Given the description of an element on the screen output the (x, y) to click on. 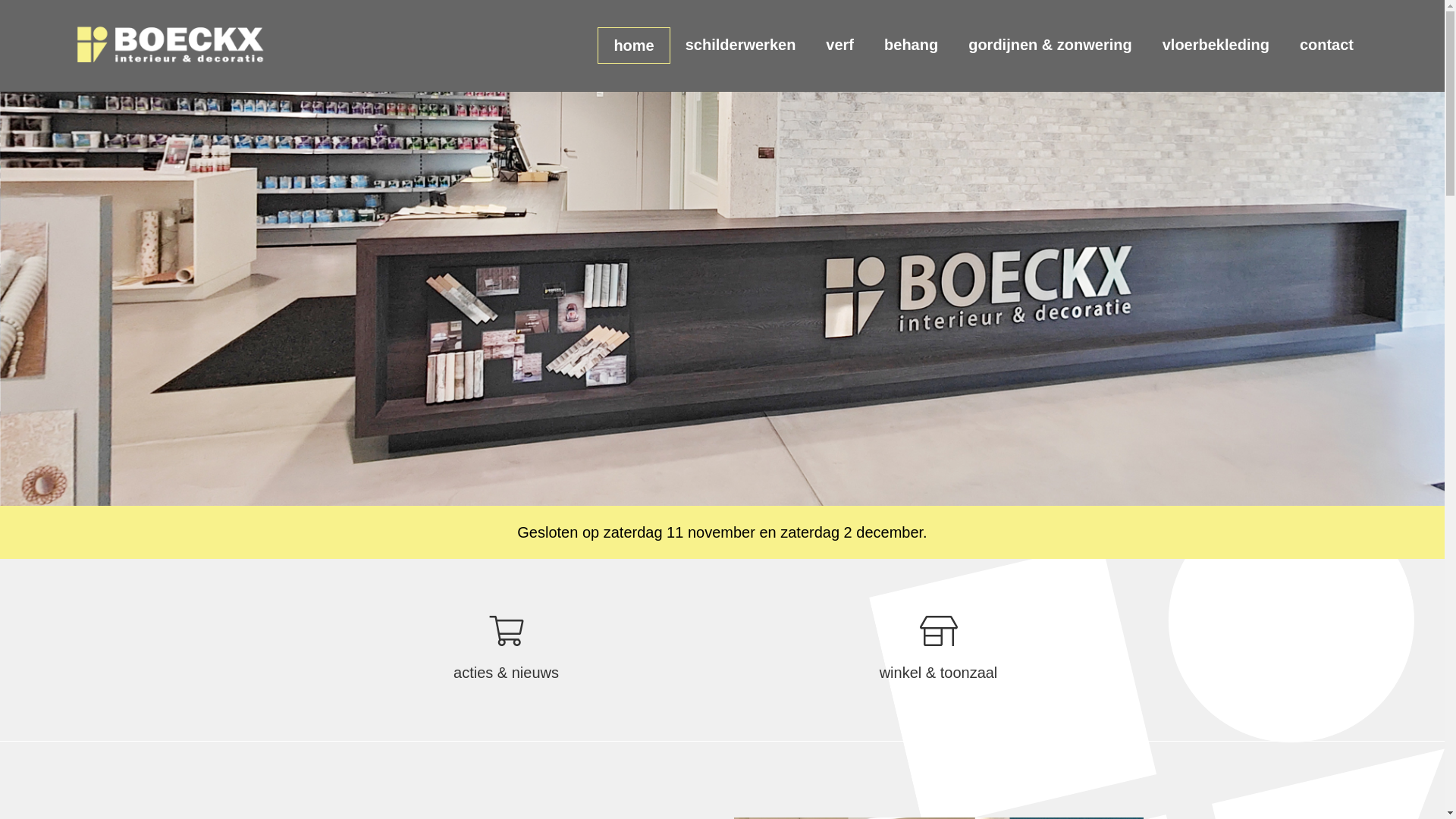
contact Element type: text (1326, 44)
acties & nieuws Element type: text (505, 654)
Boeckx Interieur Element type: hover (170, 45)
vloerbekleding Element type: text (1215, 44)
gordijnen & zonwering Element type: text (1050, 44)
verf Element type: text (839, 44)
winkel & toonzaal Element type: text (938, 654)
home Element type: text (633, 45)
schilderwerken Element type: text (740, 44)
behang Element type: text (911, 44)
